Given the description of an element on the screen output the (x, y) to click on. 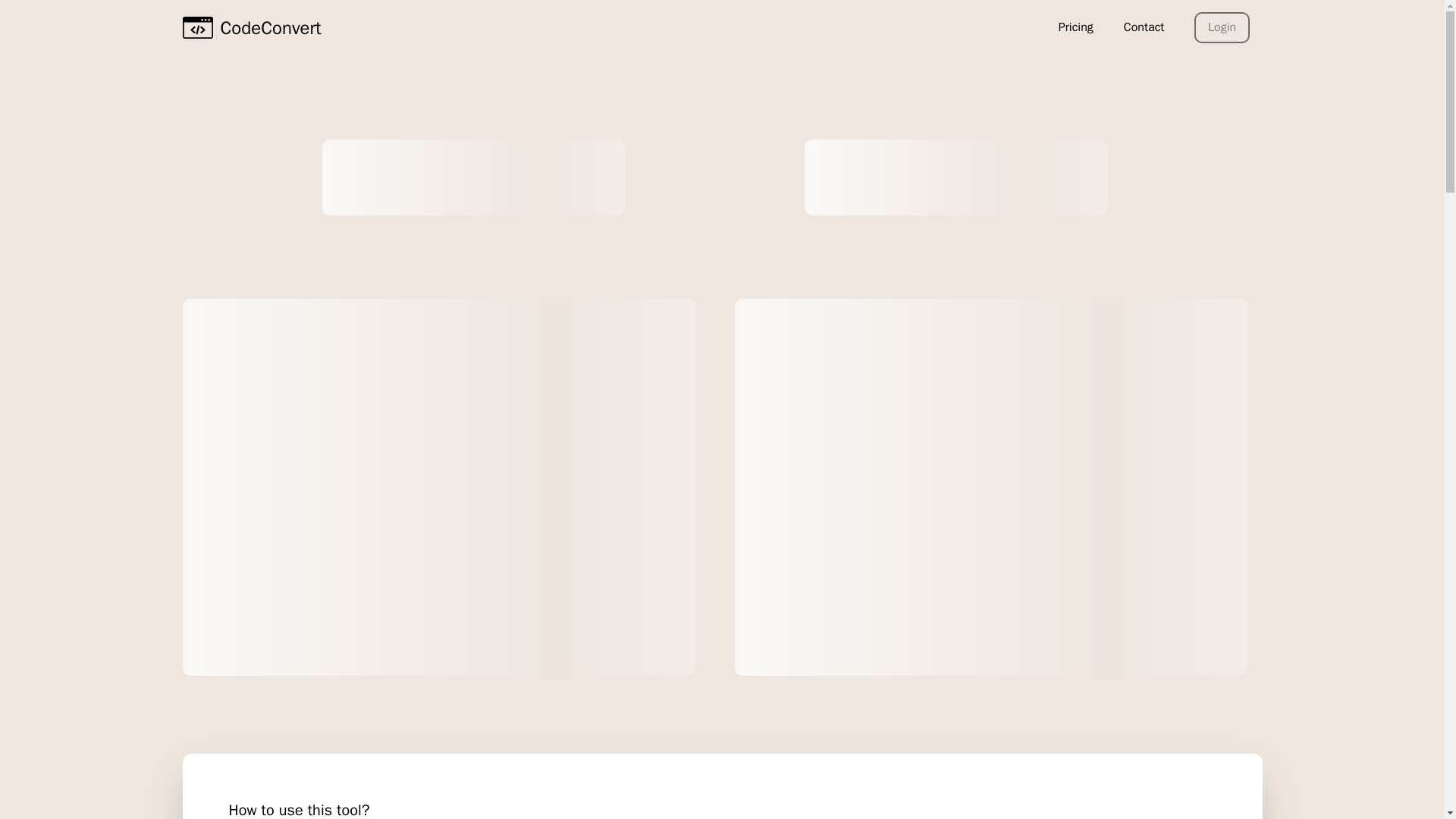
Pricing (1075, 27)
CodeConvert (251, 26)
Contact (1144, 27)
Login (1221, 27)
